Given the description of an element on the screen output the (x, y) to click on. 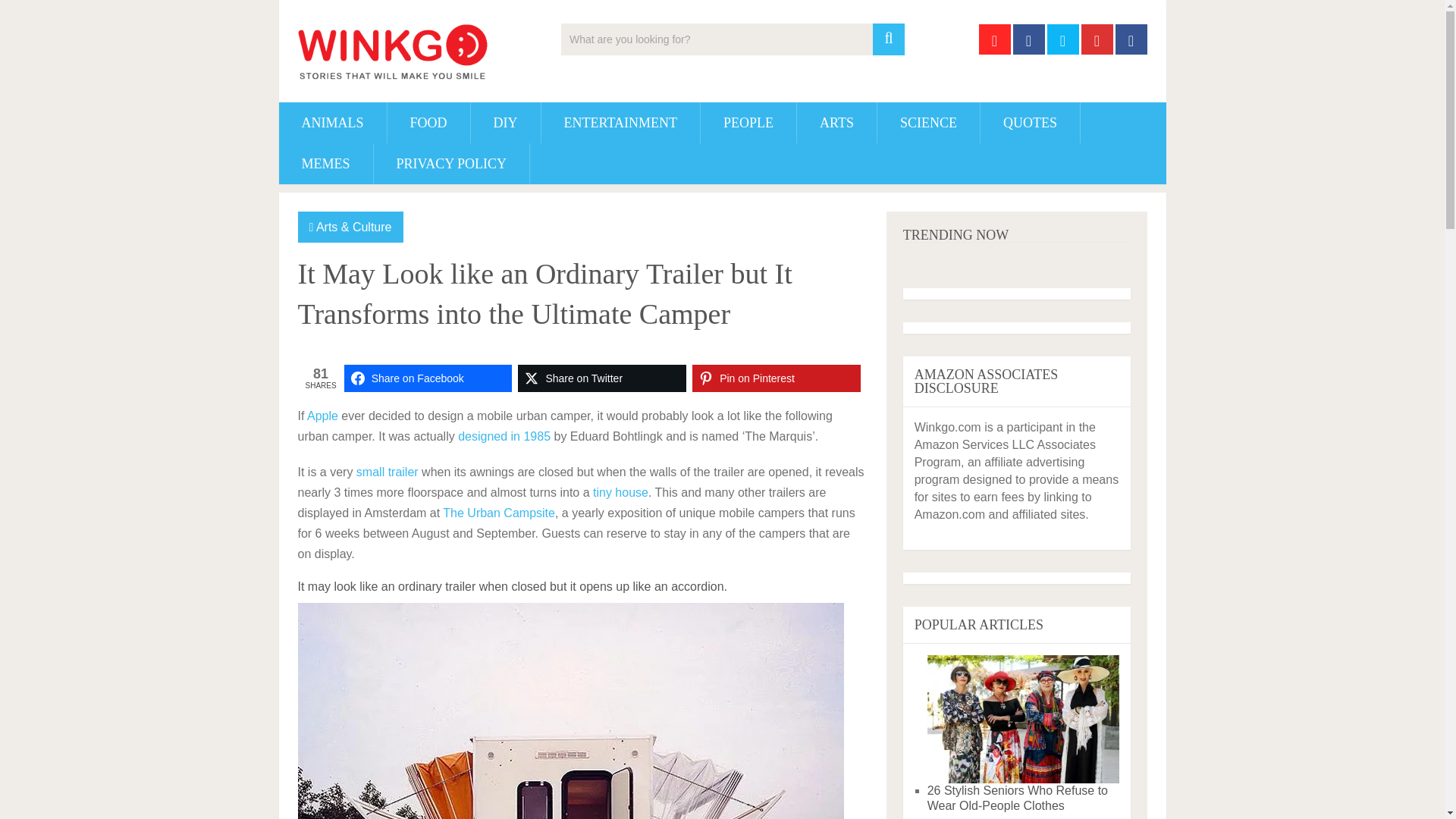
Pin on Pinterest (776, 378)
The Urban Campsite (498, 512)
Share on Share on Twitter (601, 378)
Share on Twitter (601, 378)
small trailer (387, 472)
QUOTES (1029, 122)
DIY (505, 122)
Share on Share on Facebook (427, 378)
MEMES (325, 163)
PEOPLE (748, 122)
